Given the description of an element on the screen output the (x, y) to click on. 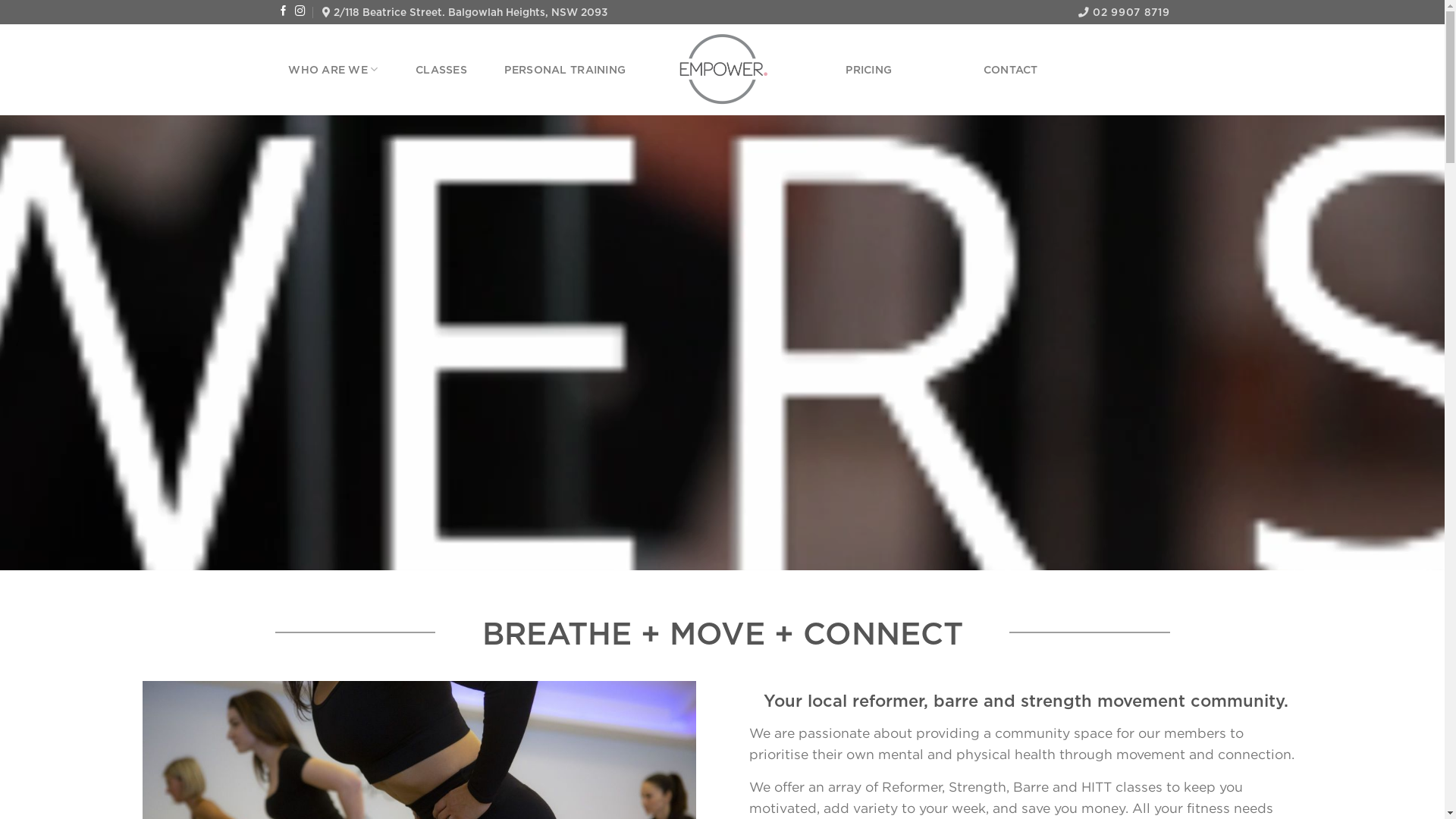
Skip to content Element type: text (0, 0)
WHO ARE WE Element type: text (332, 69)
02 9907 8719 Element type: text (1124, 11)
CONTACT Element type: text (1010, 69)
Follow on Facebook Element type: hover (283, 11)
PRICING Element type: text (868, 69)
2/118 Beatrice Street. Balgowlah Heights, NSW 2093 Element type: text (464, 12)
CLASSES Element type: text (441, 69)
PERSONAL TRAINING Element type: text (564, 69)
Follow on Instagram Element type: hover (299, 11)
Empower Studio Element type: hover (722, 69)
